Given the description of an element on the screen output the (x, y) to click on. 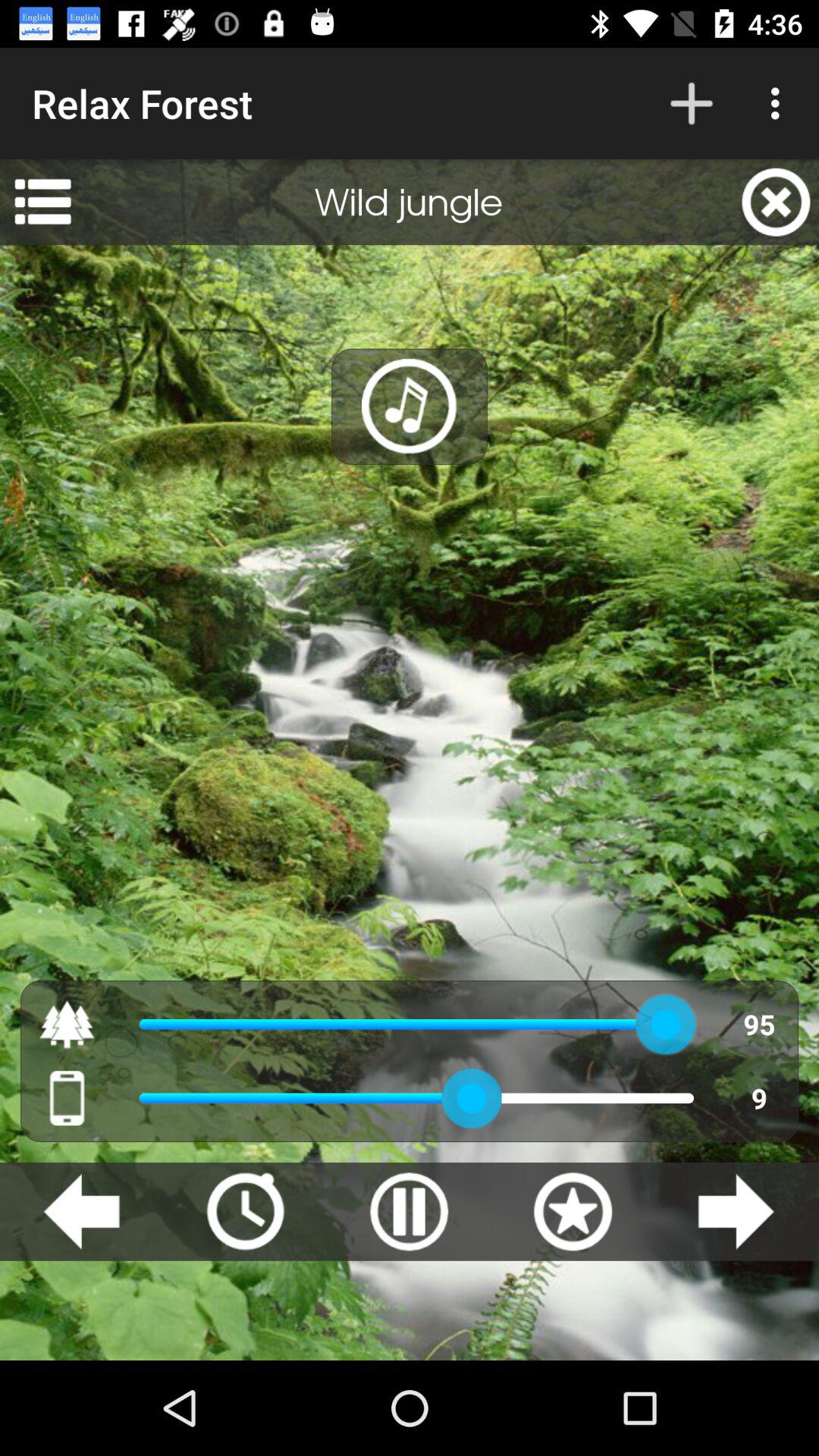
tap icon next to the wild jungle app (776, 202)
